Given the description of an element on the screen output the (x, y) to click on. 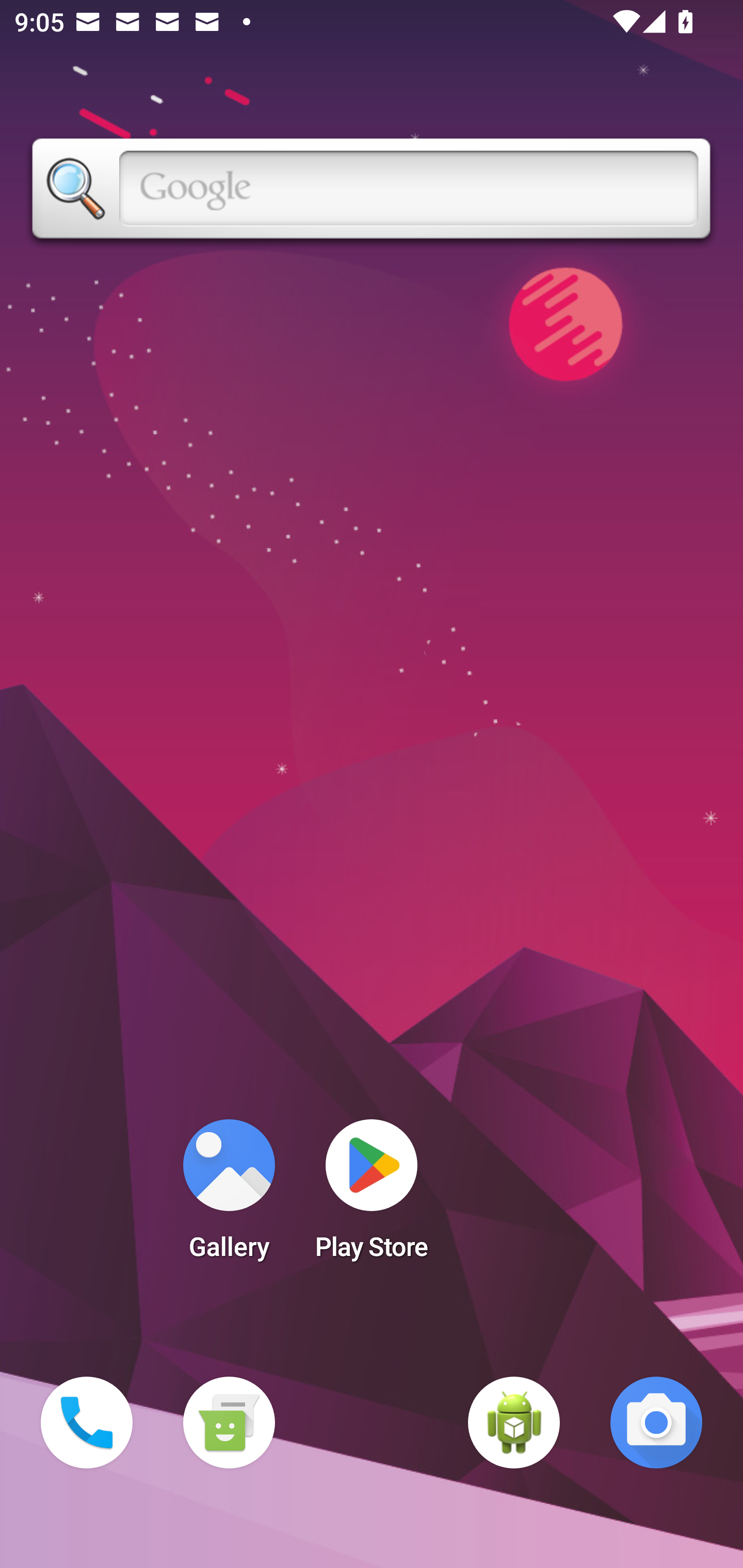
Gallery (228, 1195)
Play Store (371, 1195)
Phone (86, 1422)
Messaging (228, 1422)
WebView Browser Tester (513, 1422)
Camera (656, 1422)
